Given the description of an element on the screen output the (x, y) to click on. 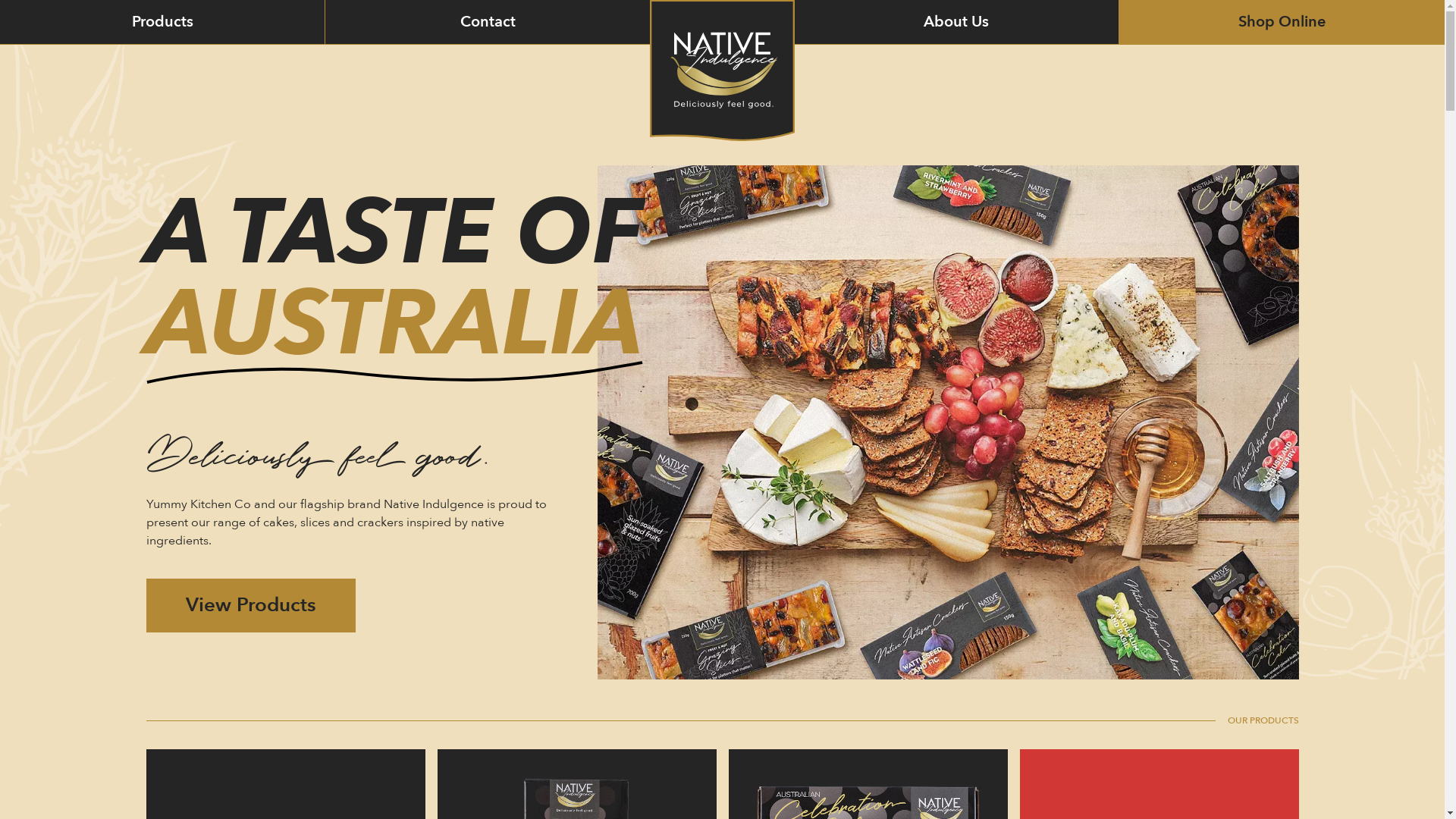
Shop Online Element type: text (1281, 21)
View Products Element type: text (249, 604)
